Given the description of an element on the screen output the (x, y) to click on. 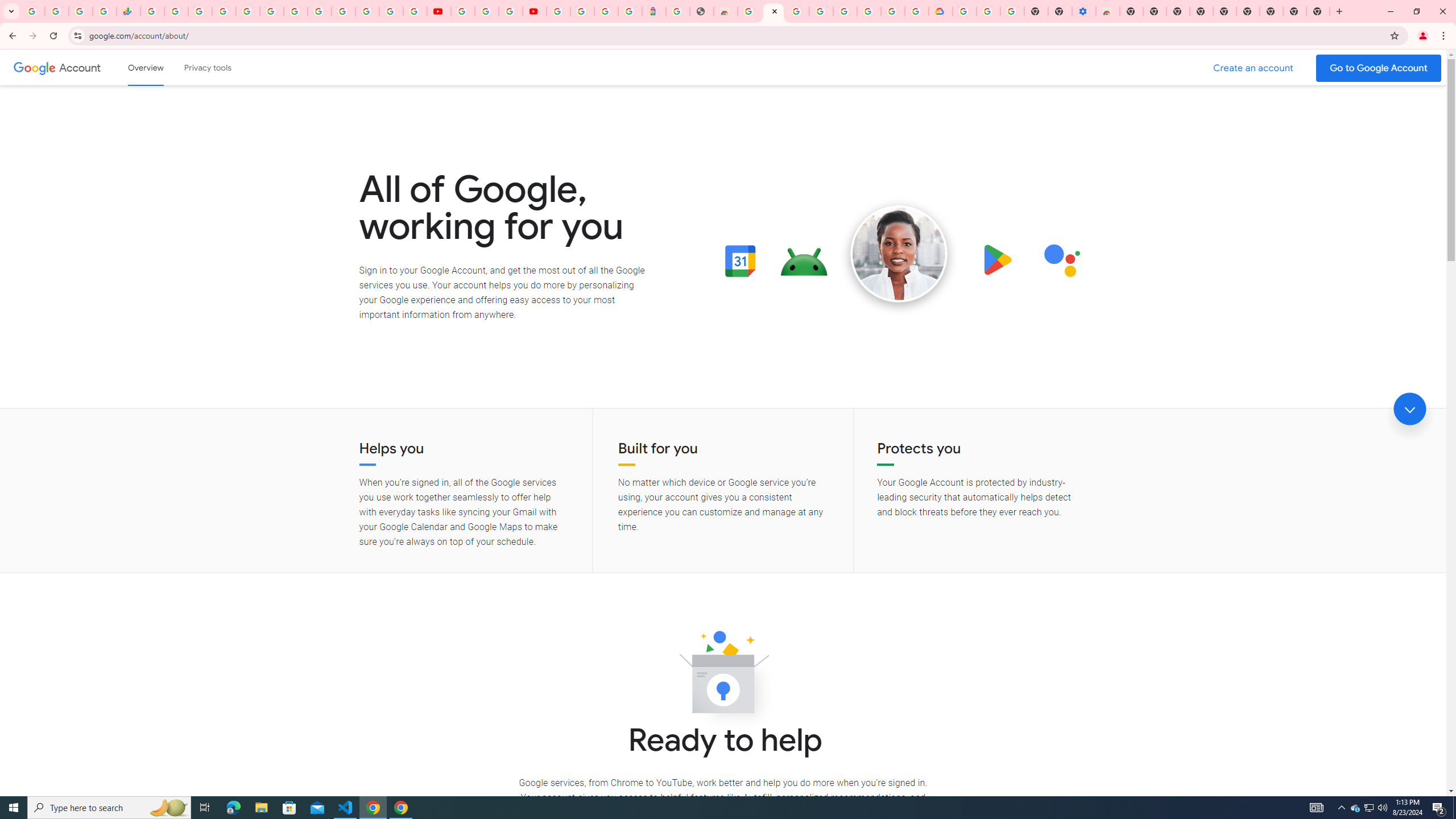
New Tab (1271, 11)
YouTube (462, 11)
Ready to help (722, 675)
Google Workspace Admin Community (32, 11)
Turn cookies on or off - Computer - Google Account Help (1012, 11)
Browse the Google Chrome Community - Google Chrome Community (916, 11)
